Given the description of an element on the screen output the (x, y) to click on. 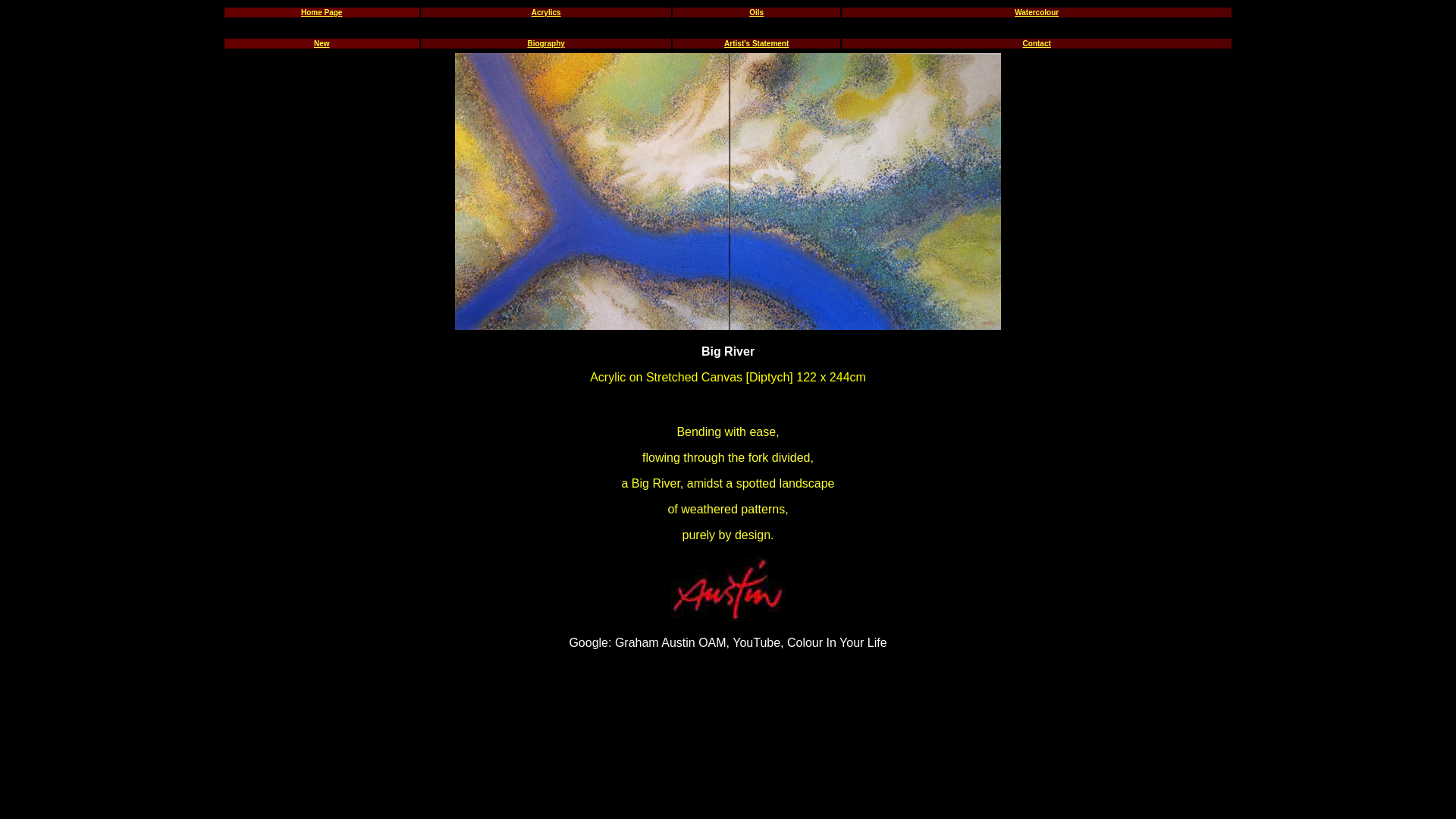
Home Page Element type: text (321, 12)
Oils Element type: text (756, 12)
New Element type: text (321, 43)
Watercolour Element type: text (1036, 12)
Artist's Statement Element type: text (756, 43)
Contact Element type: text (1036, 43)
Acrylics Element type: text (546, 12)
Biography Element type: text (545, 43)
